Given the description of an element on the screen output the (x, y) to click on. 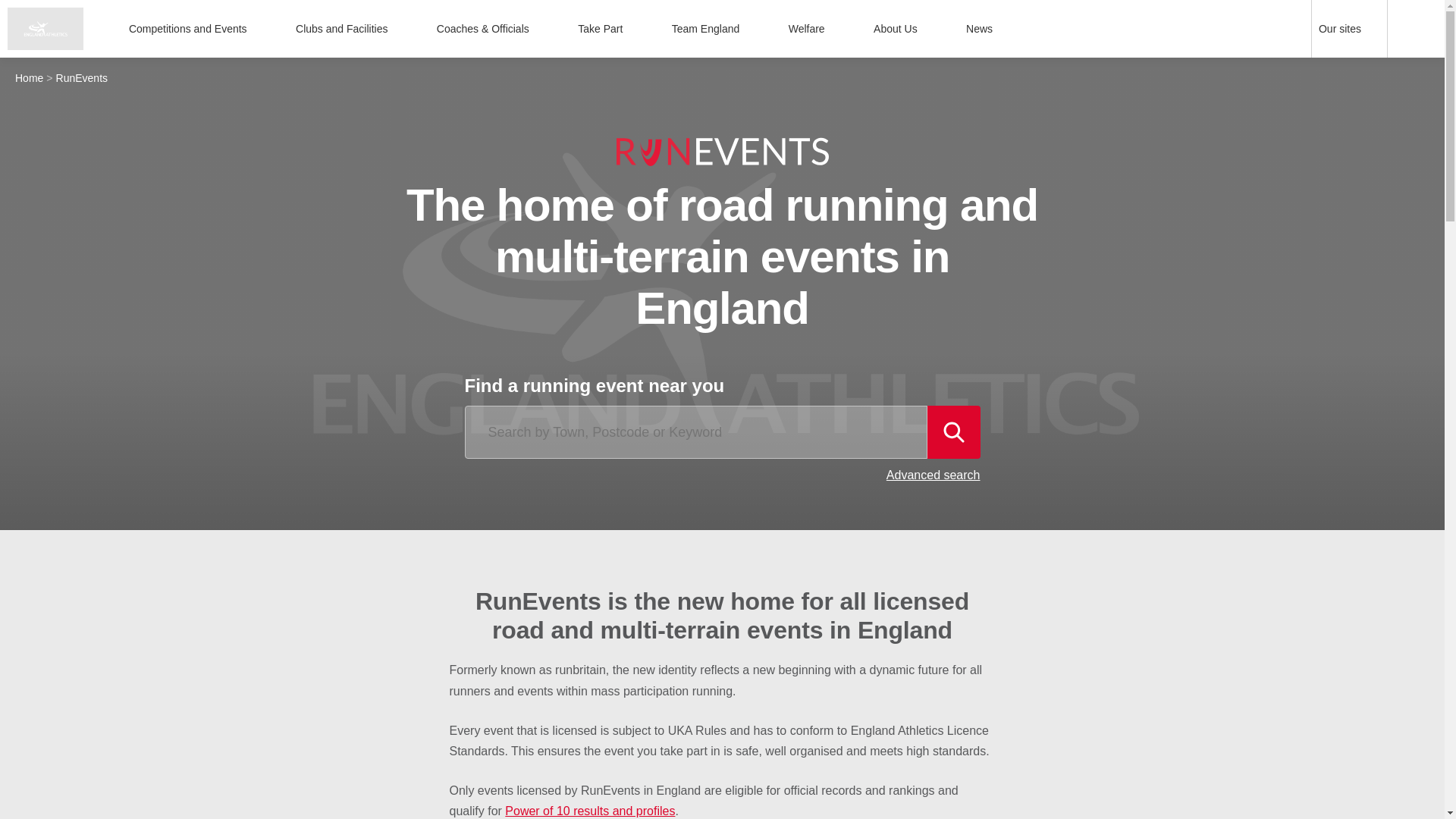
chevron-right (542, 28)
chevron-right (259, 28)
chevron-right (400, 28)
chevron-right (635, 28)
chevron-right (751, 28)
Clubs and Facilities (350, 28)
chevron-right (837, 28)
chevron-right (930, 28)
Competitions and Events (196, 28)
chevron-right (1373, 28)
